Given the description of an element on the screen output the (x, y) to click on. 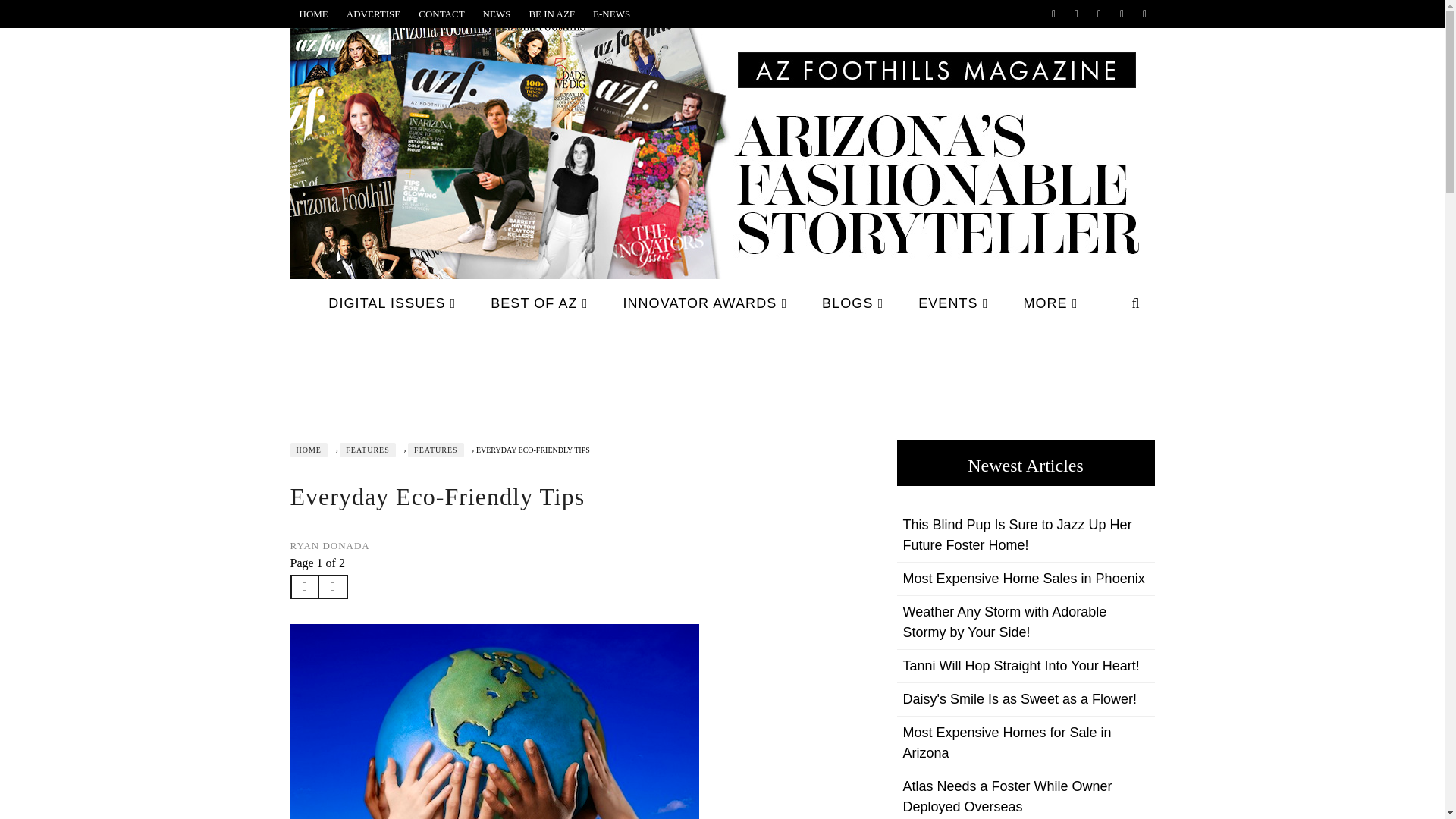
ADVERTISE (373, 13)
NEWS (497, 13)
CONTACT (441, 13)
E-NEWS (611, 13)
BE IN AZF (551, 13)
DIGITAL ISSUES (392, 303)
BEST OF AZ (539, 303)
HOME (312, 13)
